Given the description of an element on the screen output the (x, y) to click on. 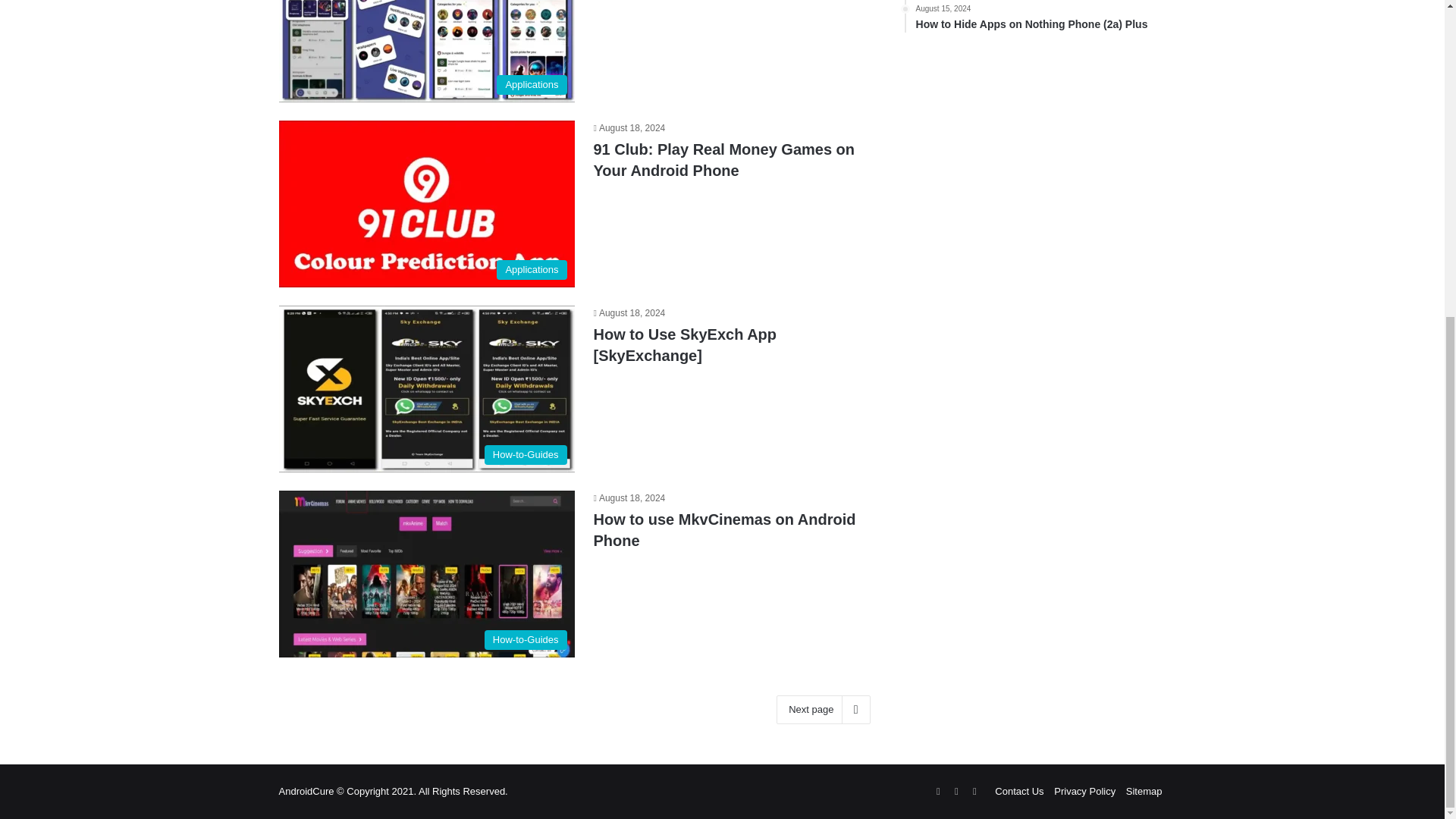
Facebook (956, 791)
How to use MkvCinemas on Android Phone (724, 529)
X (974, 791)
How-to-Guides (427, 573)
Applications (427, 203)
Applications (427, 51)
91 Club: Play Real Money Games on Your Android Phone (723, 159)
Next page (822, 709)
Privacy Policy (1084, 790)
Contact Us (1018, 790)
